Given the description of an element on the screen output the (x, y) to click on. 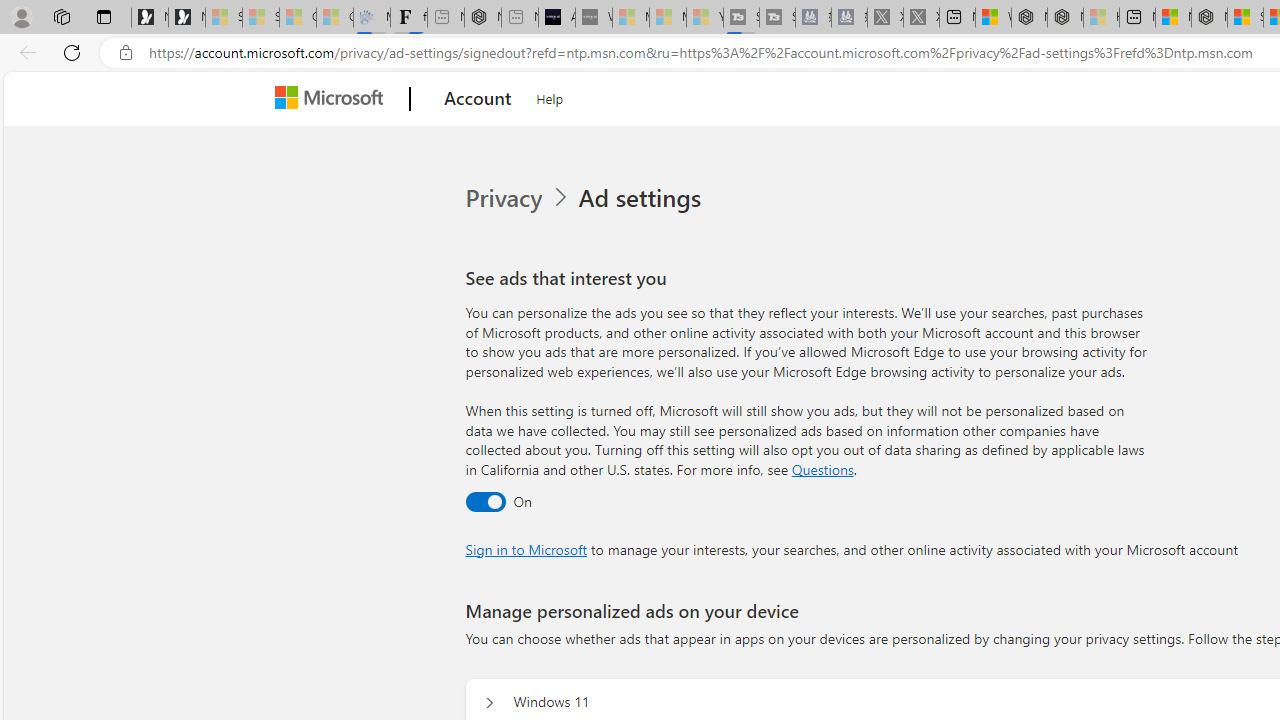
Sign in to Microsoft (525, 548)
Ad settings toggle (484, 501)
Go to Questions section (822, 468)
Privacy (505, 197)
